Given the description of an element on the screen output the (x, y) to click on. 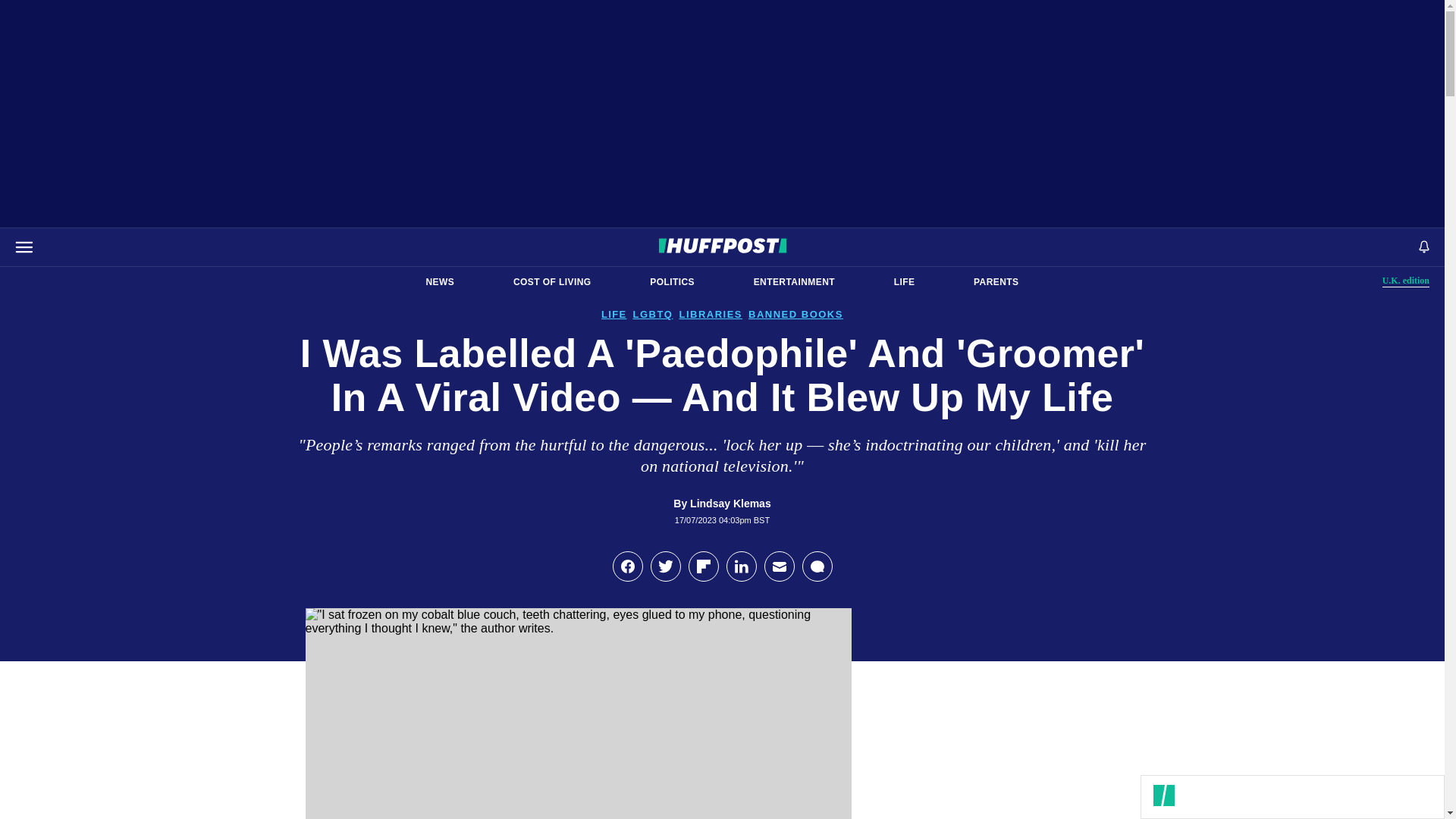
LIFE (904, 281)
COST OF LIVING (552, 281)
POLITICS (671, 281)
NEWS (440, 281)
ENTERTAINMENT (1405, 281)
PARENTS (794, 281)
